Given the description of an element on the screen output the (x, y) to click on. 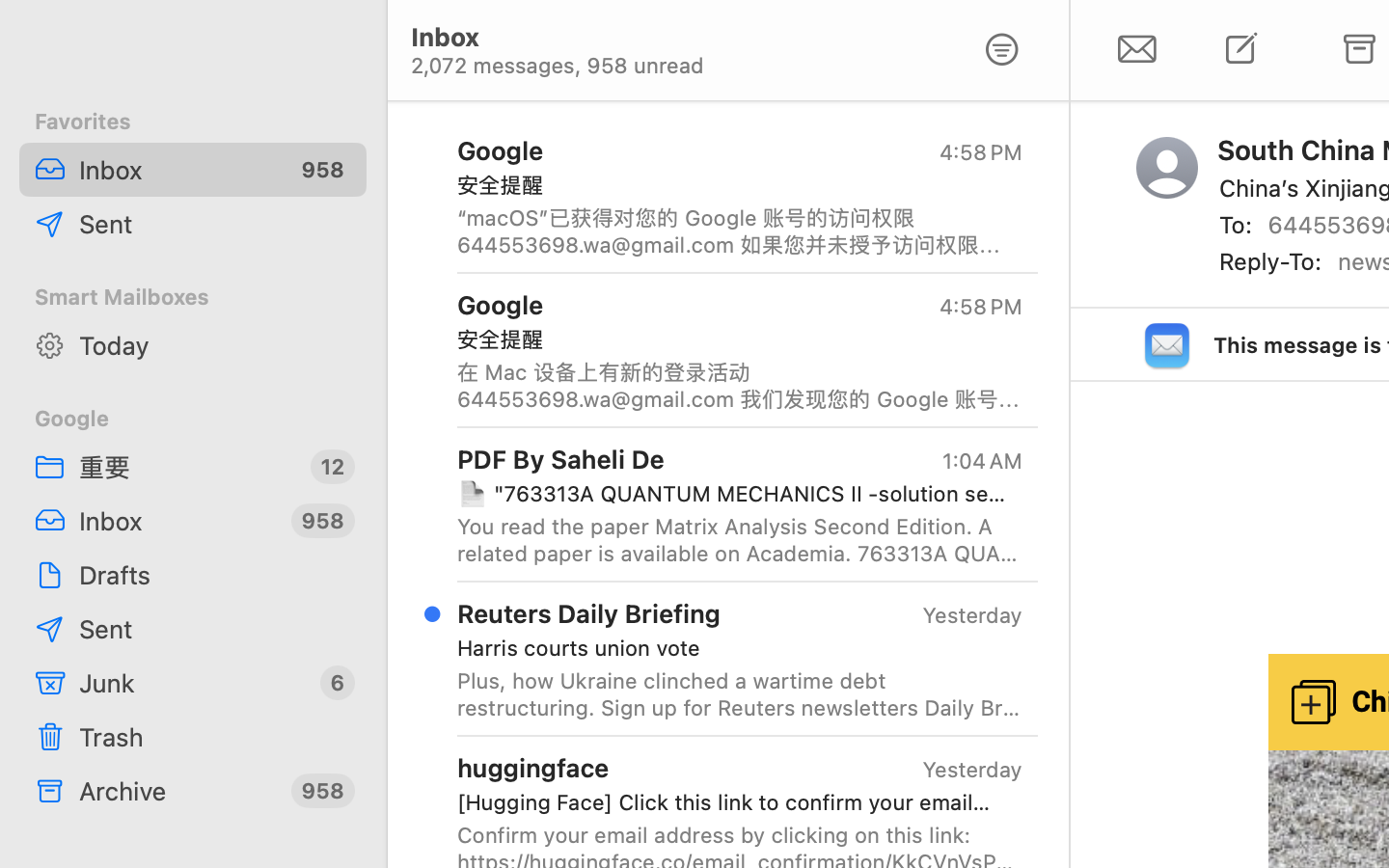
Harris courts union vote Element type: AXStaticText (731, 647)
Reuters Daily Briefing Element type: AXStaticText (589, 612)
0 Element type: AXCheckBox (1002, 50)
Drafts Element type: AXStaticText (214, 574)
Yesterday Element type: AXStaticText (972, 614)
